Given the description of an element on the screen output the (x, y) to click on. 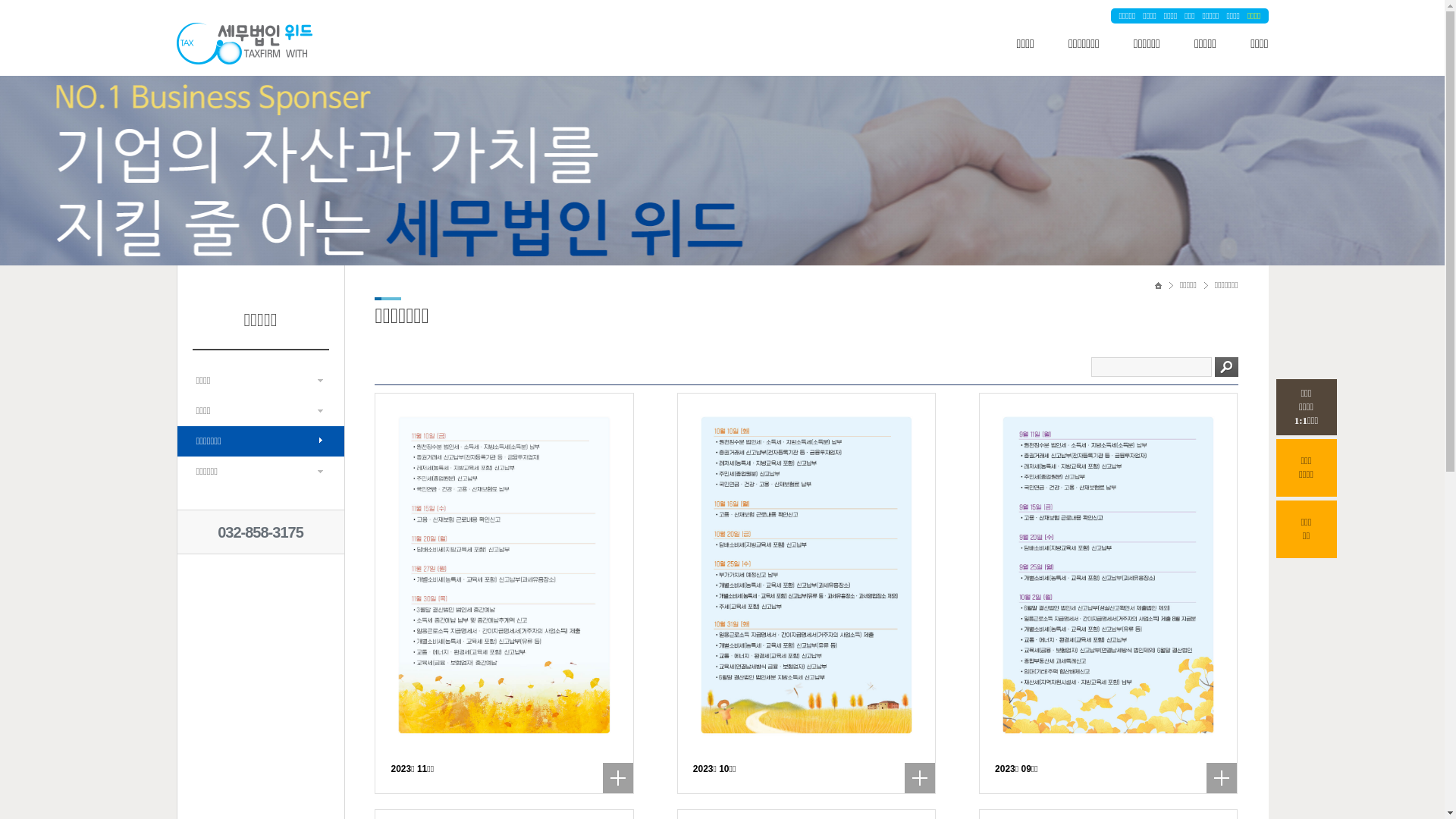
032-858-3175 Element type: text (260, 532)
